Given the description of an element on the screen output the (x, y) to click on. 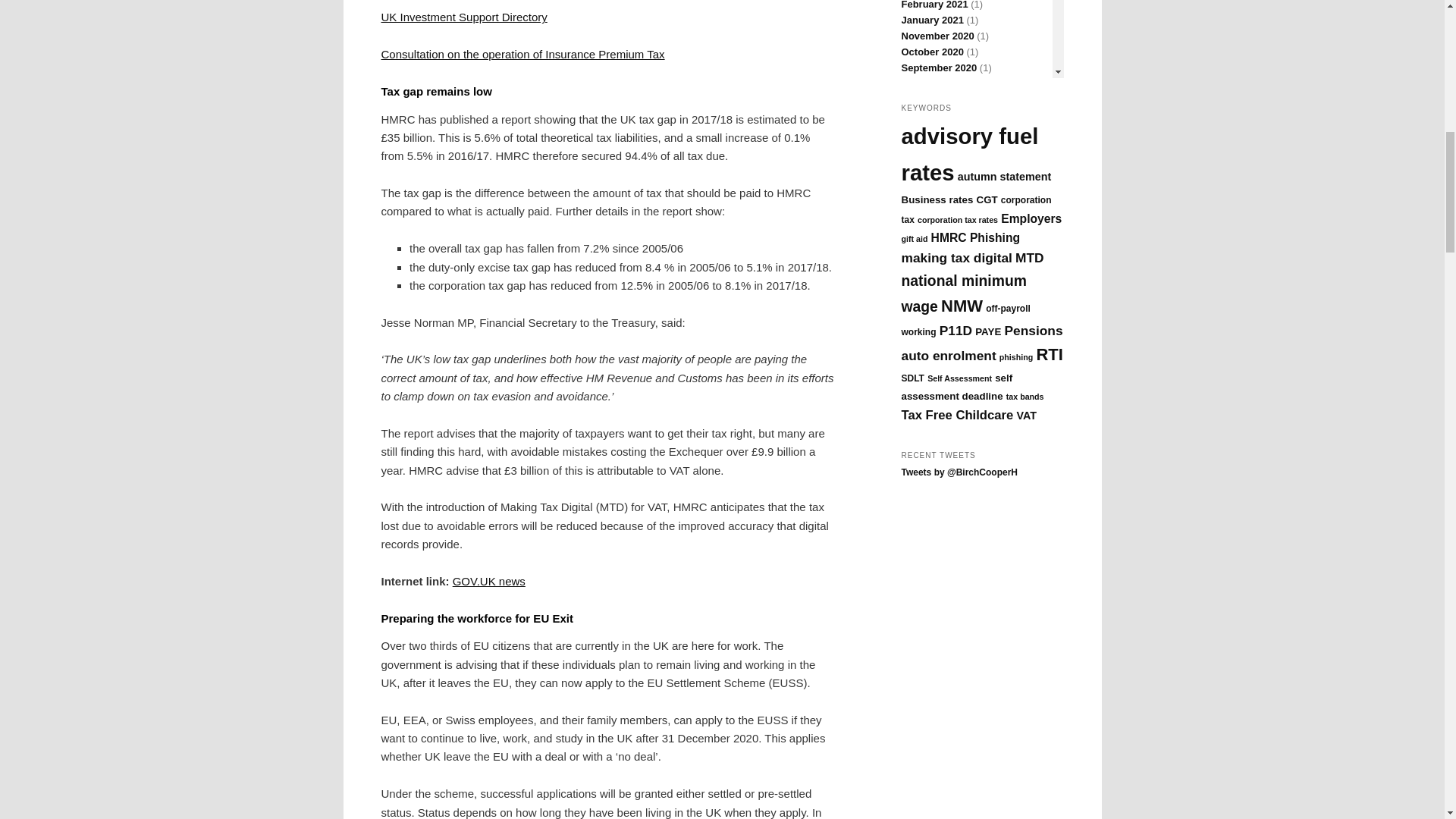
Consultation on the operation of Insurance Premium Tax (521, 53)
UK Investment Support Directory (463, 16)
GOV.UK news (488, 581)
